Given the description of an element on the screen output the (x, y) to click on. 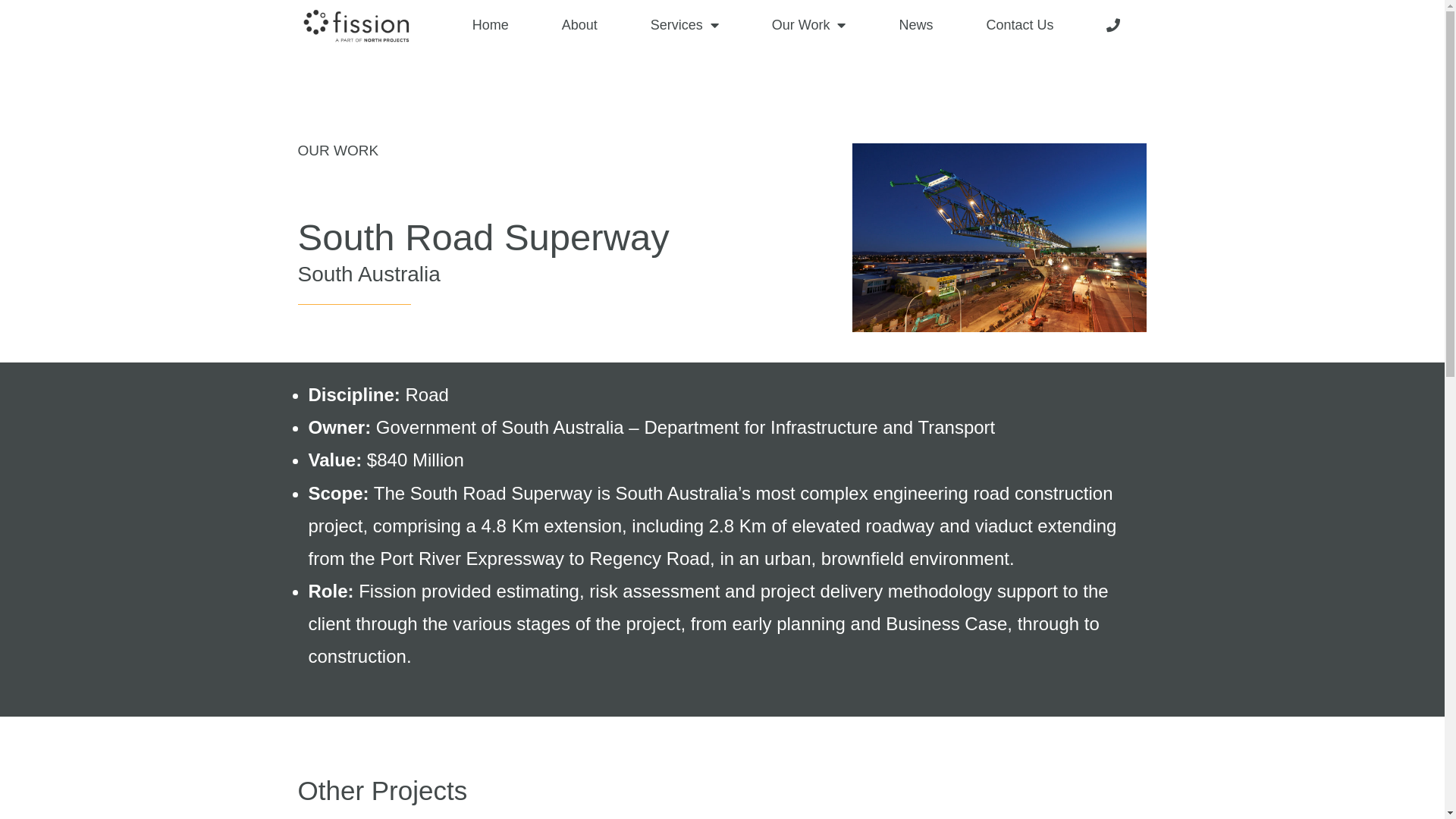
Services Element type: text (684, 24)
Contact Us Element type: text (1019, 24)
Our Work Element type: text (808, 24)
Home Element type: text (490, 24)
News Element type: text (915, 24)
About Element type: text (579, 24)
